Given the description of an element on the screen output the (x, y) to click on. 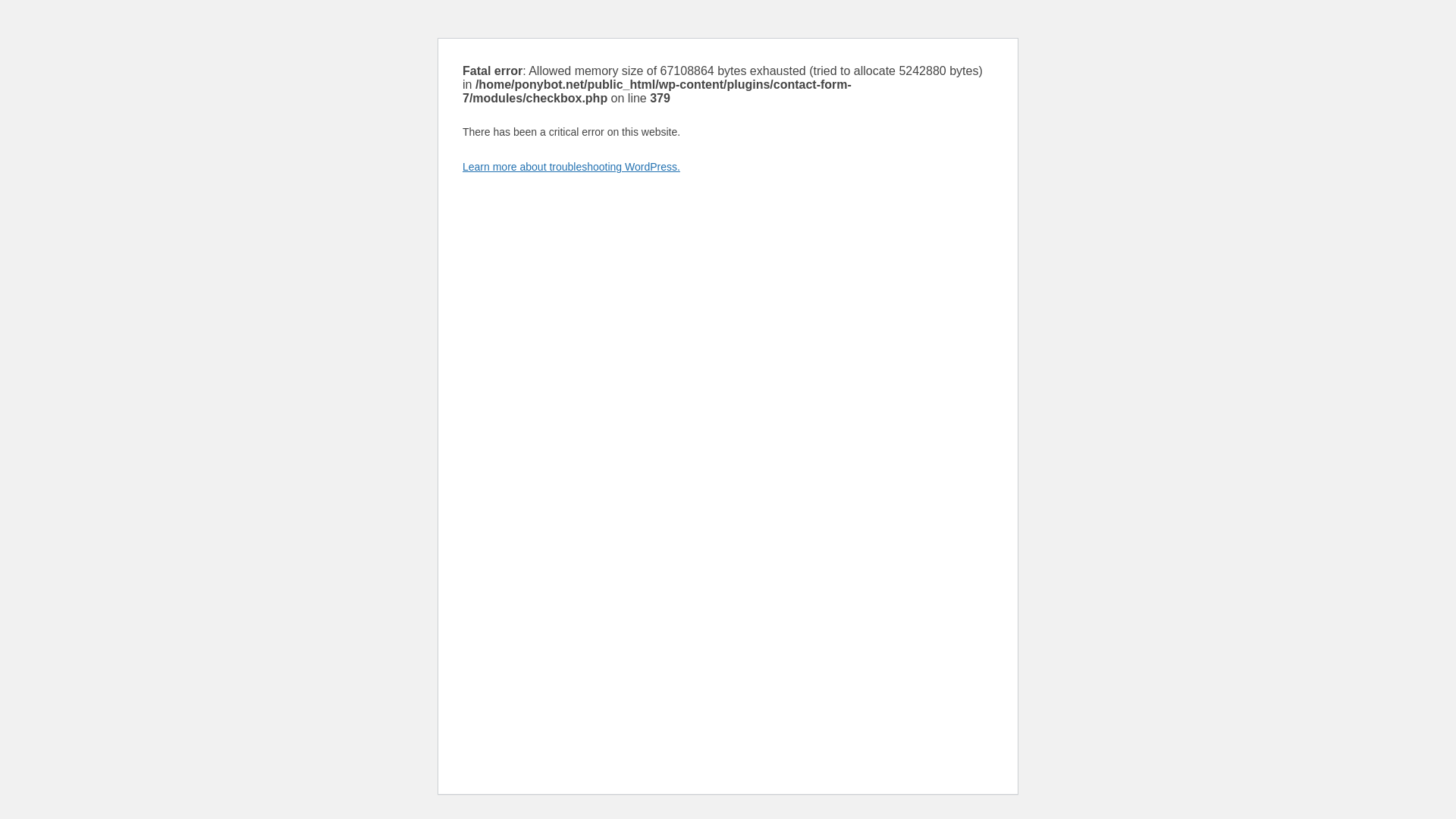
Learn more about troubleshooting WordPress. (571, 166)
